Given the description of an element on the screen output the (x, y) to click on. 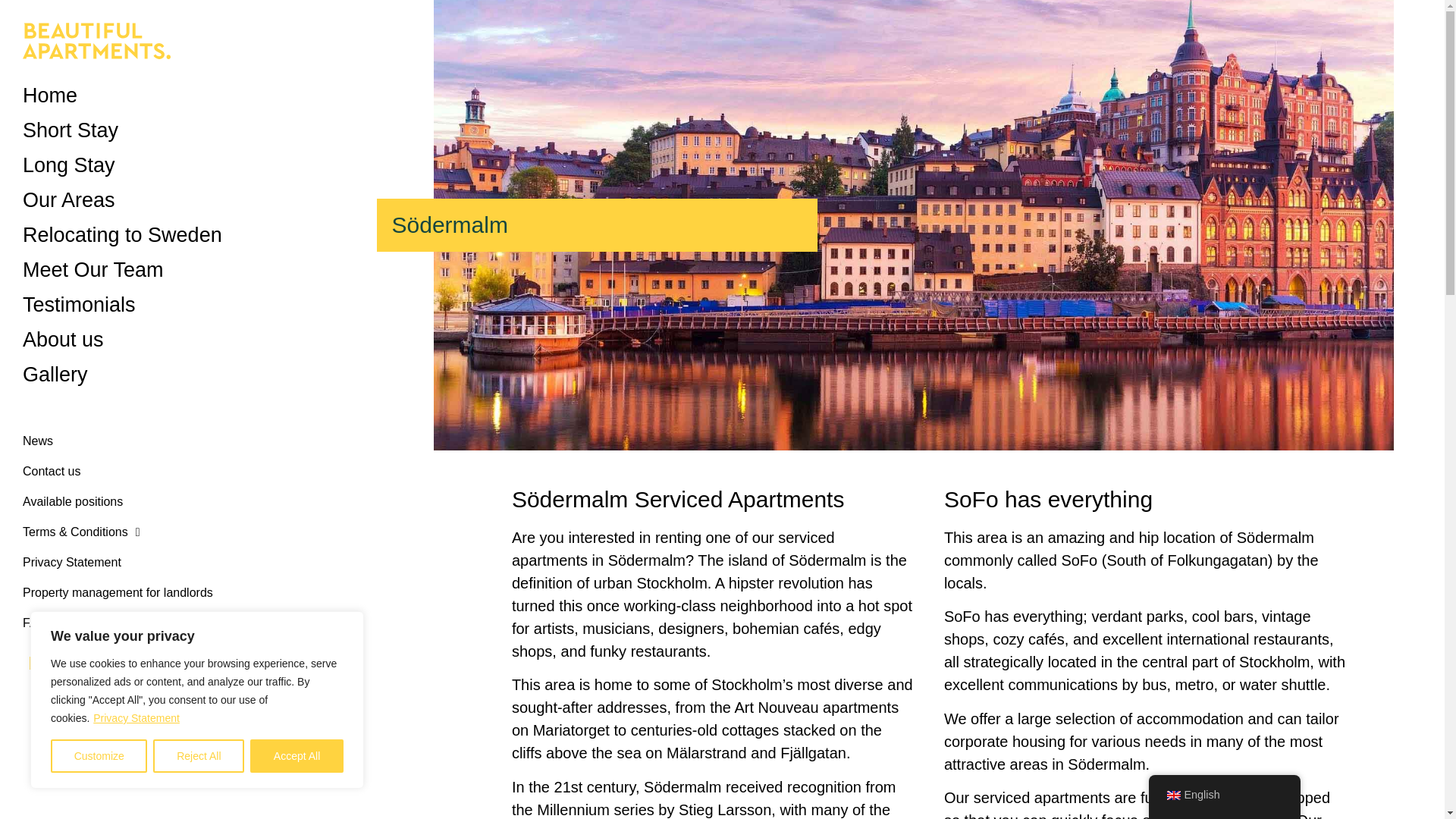
Accept All (296, 756)
Customize (98, 756)
English (1172, 795)
Privacy Statement (136, 717)
Reject All (198, 756)
